Given the description of an element on the screen output the (x, y) to click on. 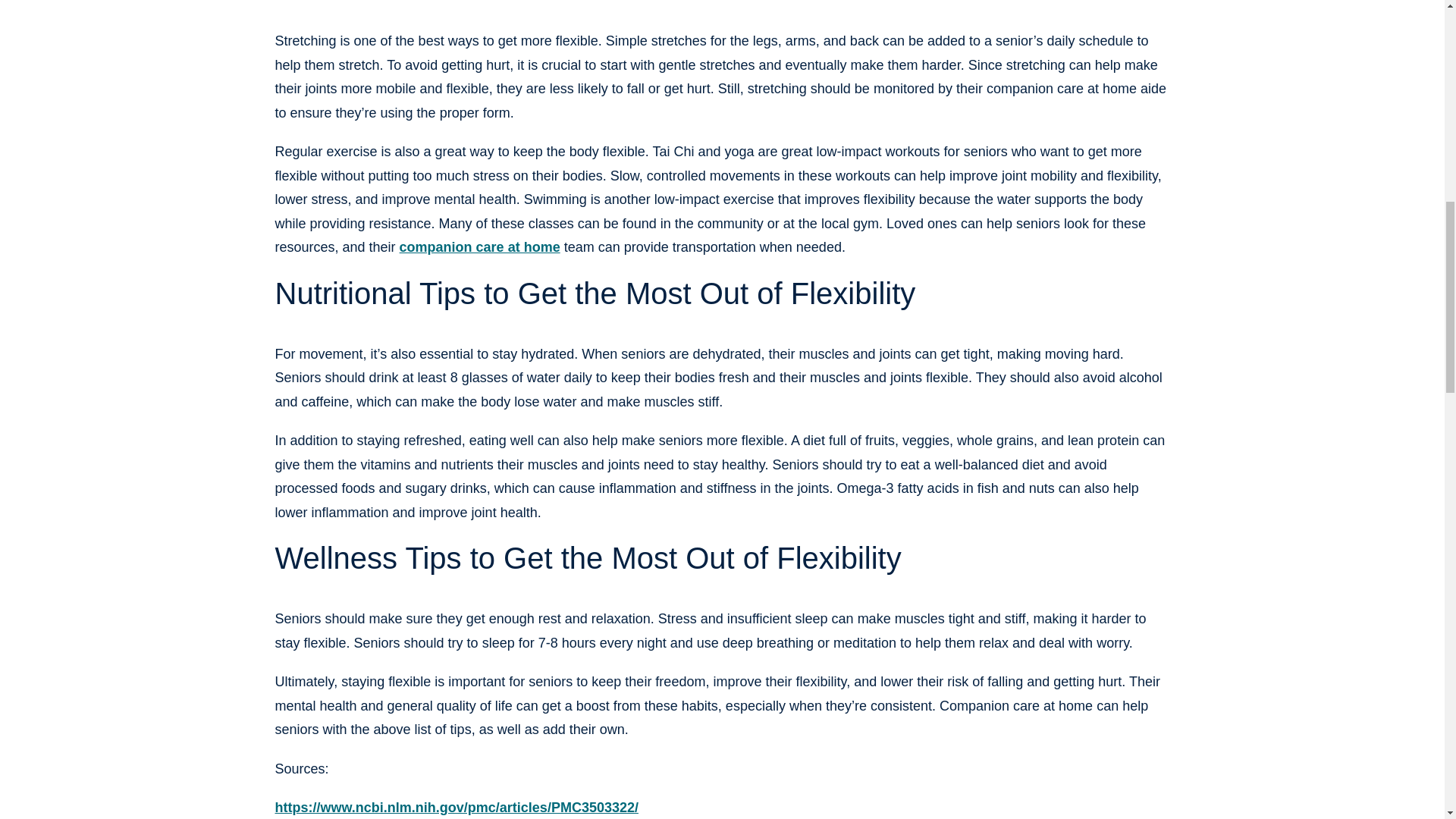
companion care at home (479, 247)
